Given the description of an element on the screen output the (x, y) to click on. 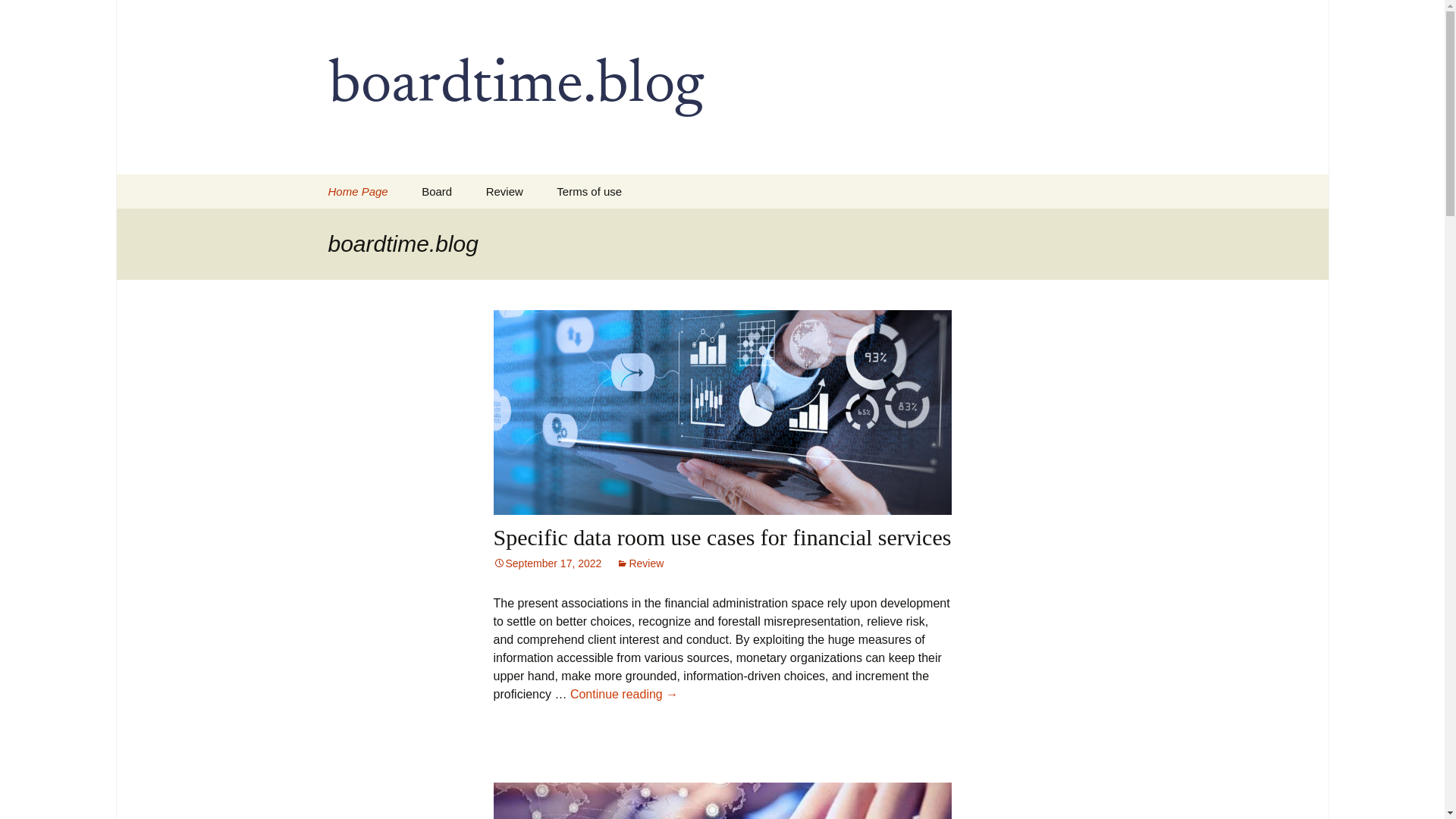
Search (34, 15)
Search (18, 15)
Review (504, 191)
Home Page (358, 191)
September 17, 2022 (547, 563)
Specific data room use cases for financial services (721, 536)
Terms of use (589, 191)
Review (639, 563)
